Given the description of an element on the screen output the (x, y) to click on. 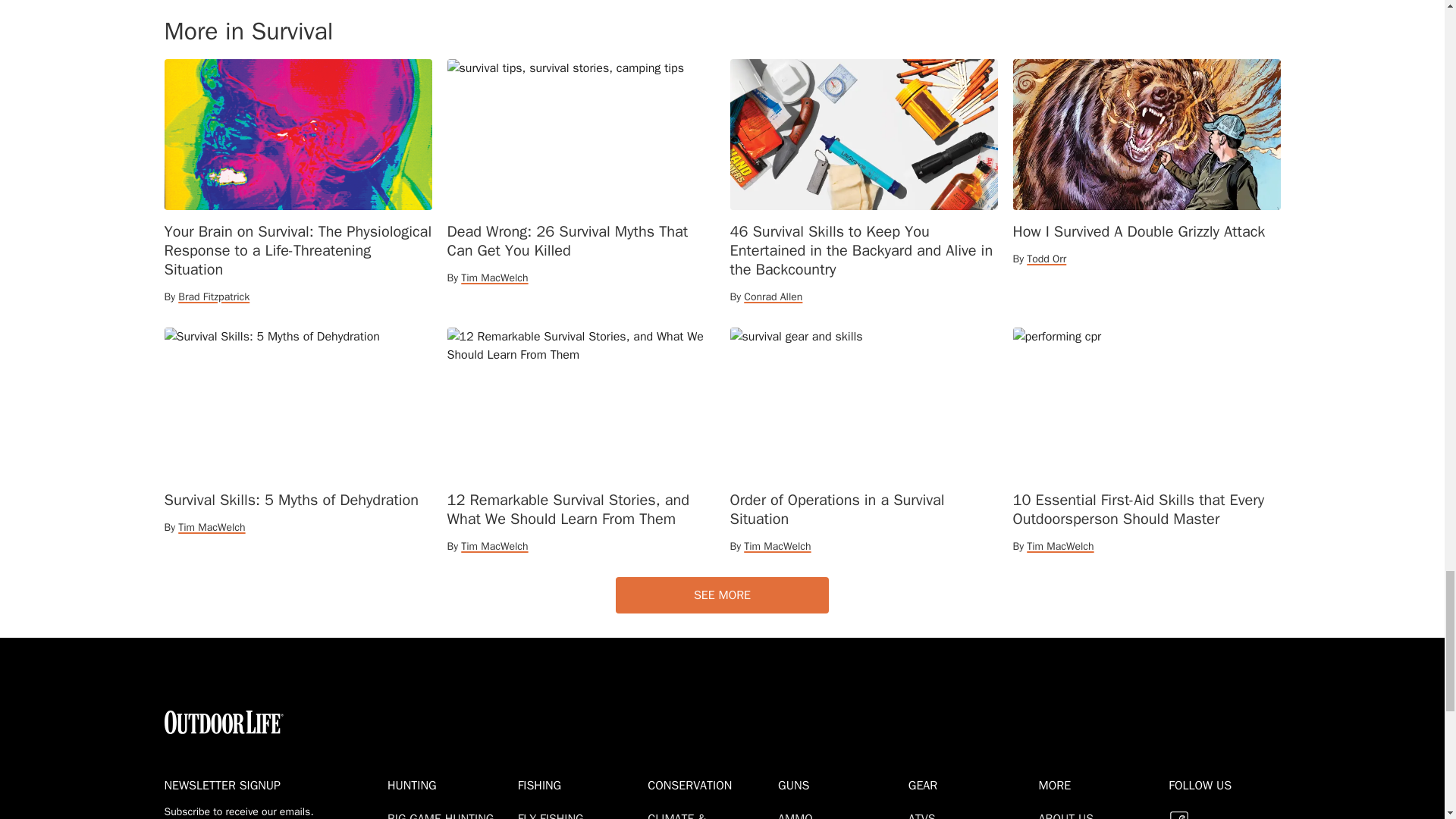
Big Game Hunting (443, 815)
Fishing (580, 785)
Fly Fishing (553, 815)
Hunting (449, 785)
Conservation (709, 785)
